Given the description of an element on the screen output the (x, y) to click on. 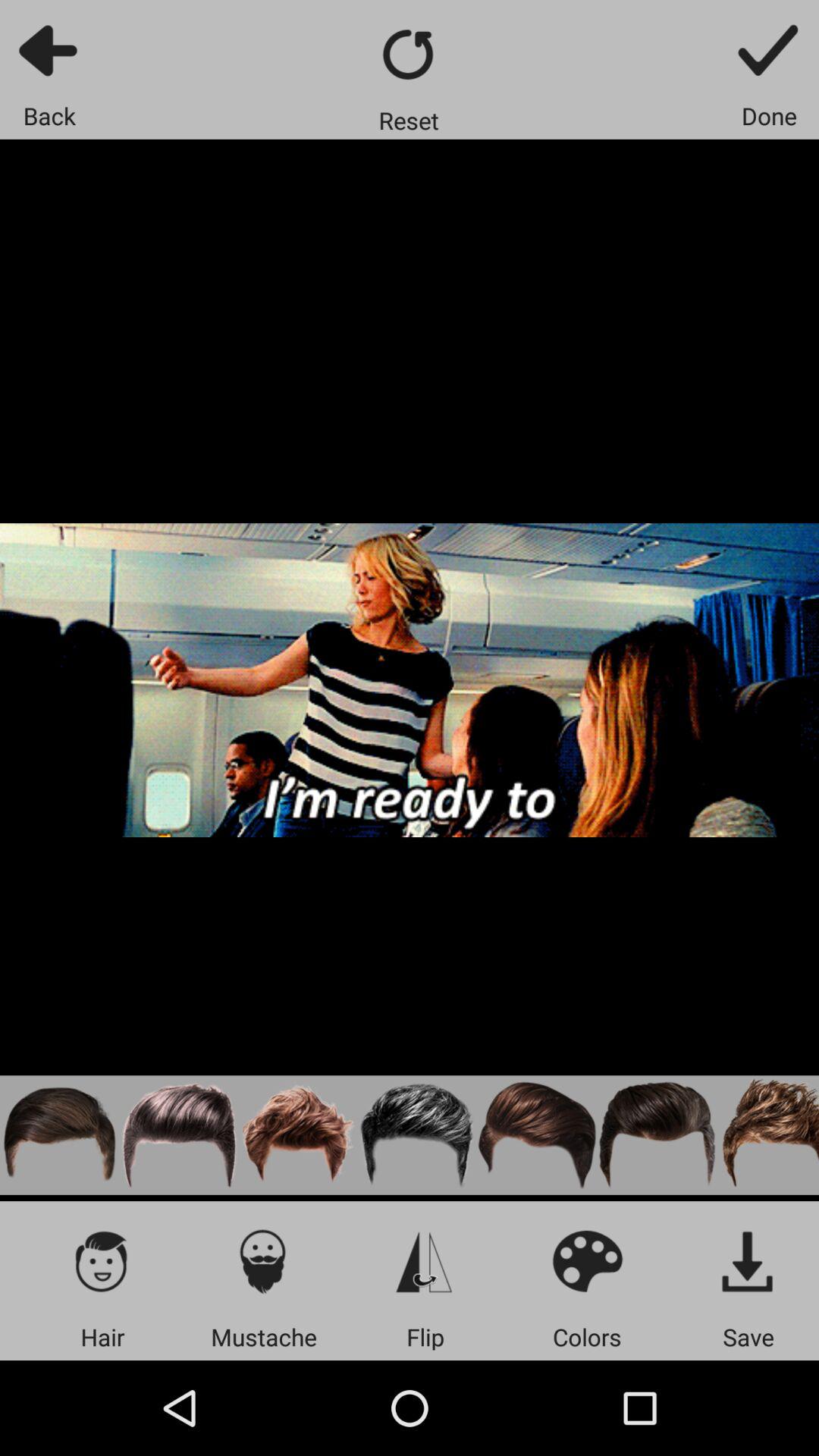
save (748, 1260)
